Given the description of an element on the screen output the (x, y) to click on. 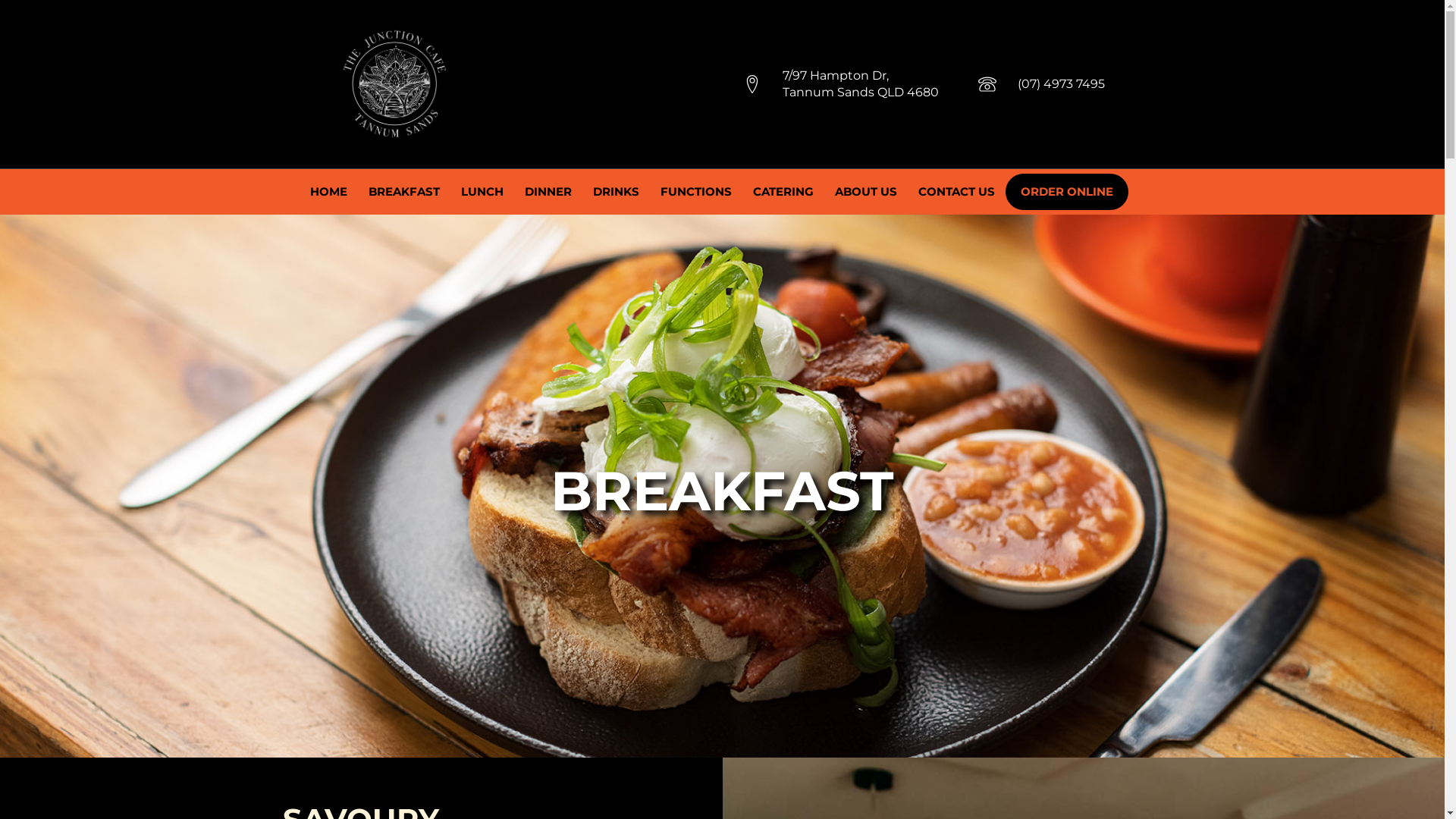
ORDER ONLINE Element type: text (1066, 191)
CONTACT US Element type: text (955, 191)
DINNER Element type: text (548, 191)
FUNCTIONS Element type: text (695, 191)
7/97 Hampton Dr, 
Tannum Sands QLD 4680 Element type: text (860, 84)
CATERING Element type: text (782, 191)
ABOUT US Element type: text (864, 191)
LUNCH Element type: text (482, 191)
DRINKS Element type: text (615, 191)
HOME Element type: text (327, 191)
(07) 4973 7495 Element type: text (1060, 83)
BREAKFAST Element type: text (403, 191)
